Given the description of an element on the screen output the (x, y) to click on. 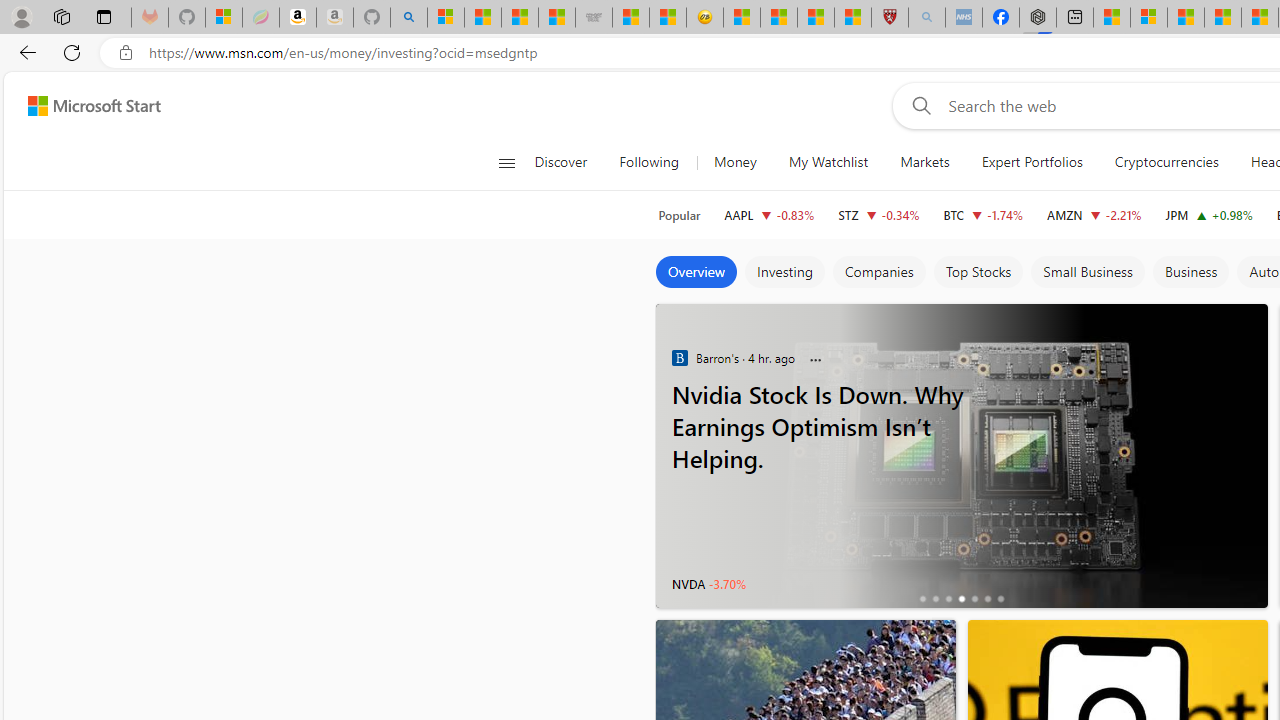
New tab (1075, 17)
Expert Portfolios (1031, 162)
Microsoft Start (1185, 17)
Markets (924, 162)
BTC Bitcoin decrease 60,359.26 -1,049.65 -1.74% (982, 214)
Combat Siege (593, 17)
My Watchlist (827, 162)
Robert H. Shmerling, MD - Harvard Health (889, 17)
Refresh (72, 52)
Microsoft-Report a Concern to Bing (223, 17)
Money (735, 162)
Business (1190, 272)
